Given the description of an element on the screen output the (x, y) to click on. 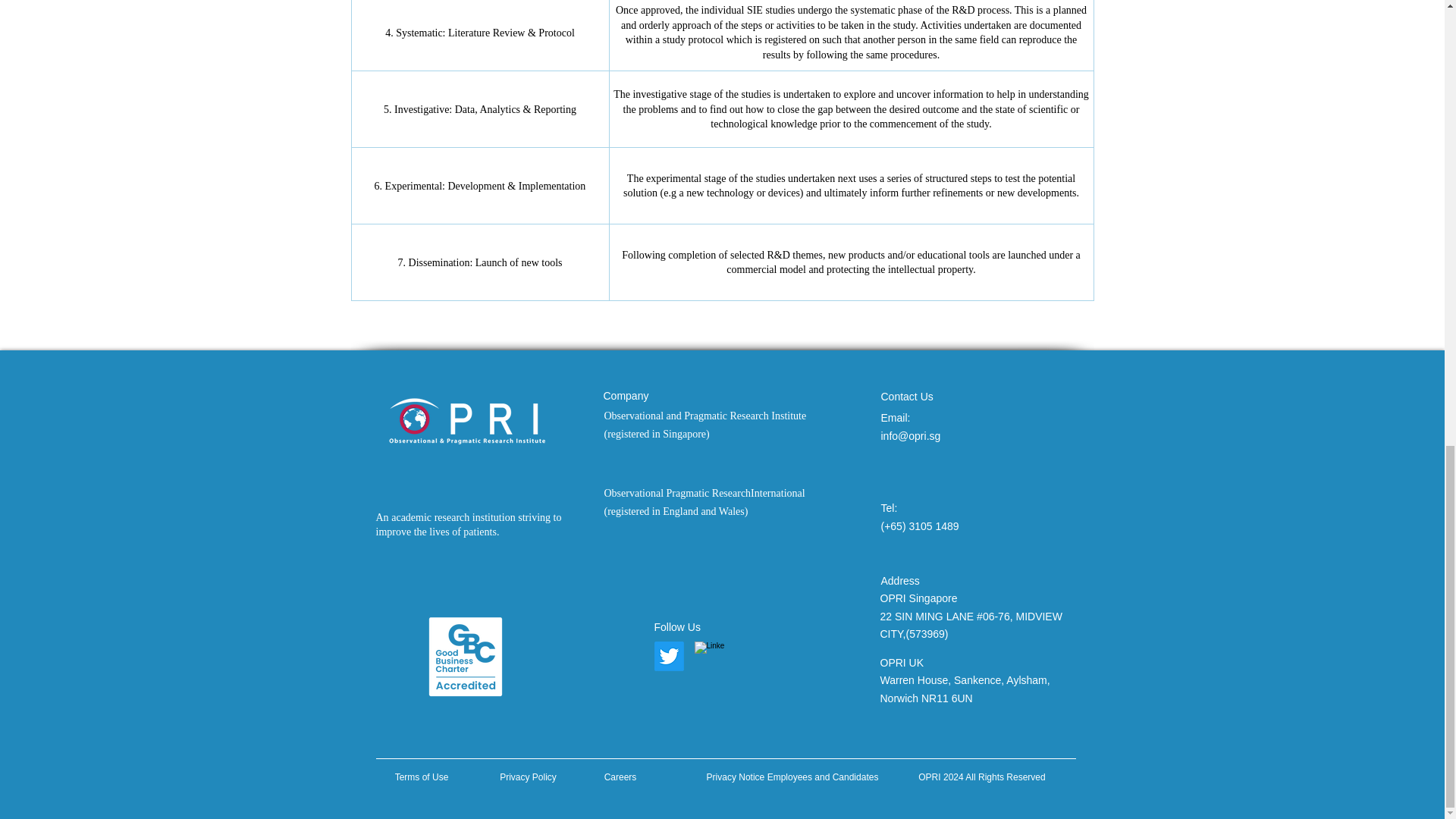
Privacy Policy (527, 777)
Privacy Notice Employees and Candidates (792, 773)
Terms of Use (421, 777)
Careers (620, 777)
